Given the description of an element on the screen output the (x, y) to click on. 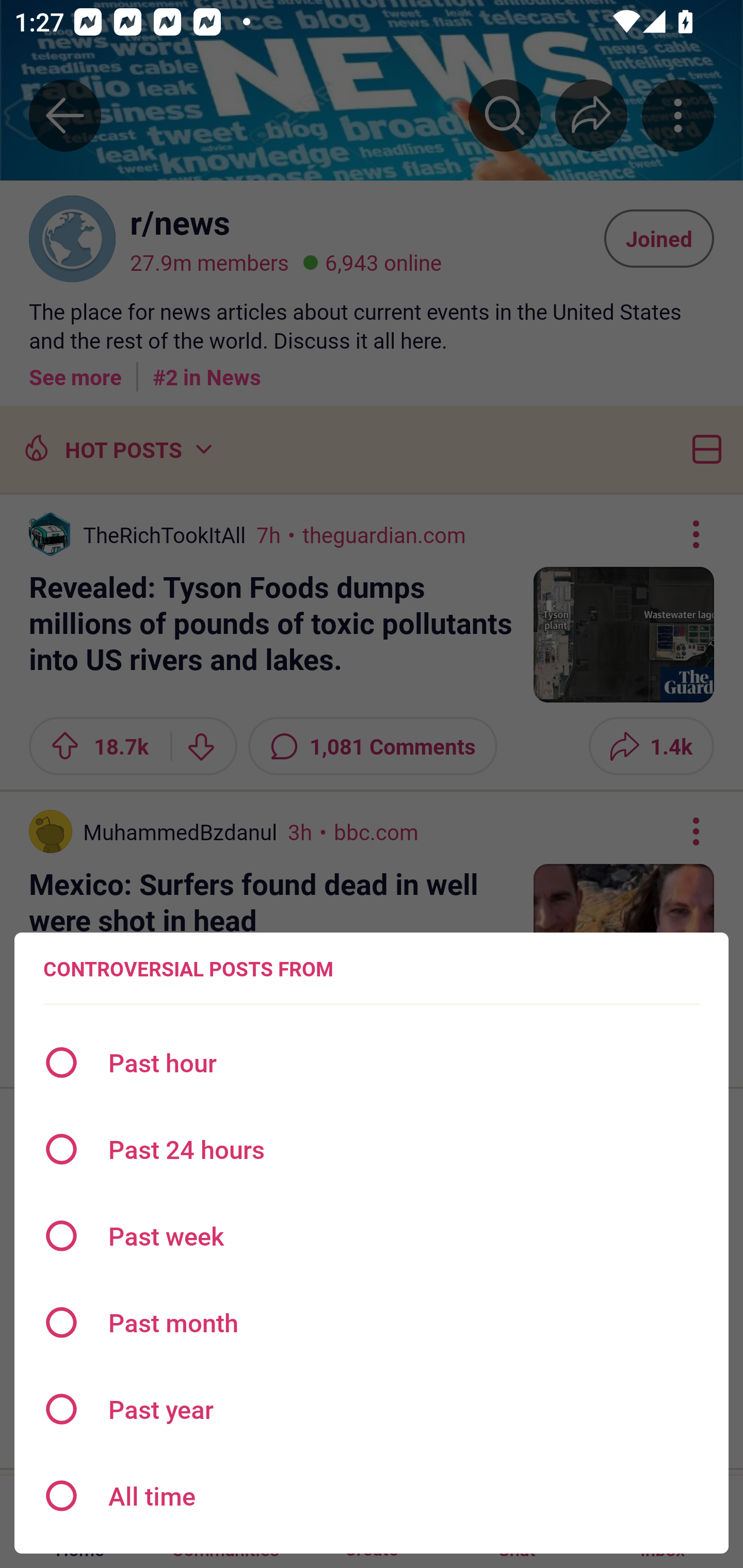
CONTROVERSIAL POSTS FROM (188, 968)
Past hour (371, 1062)
Past 24 hours (371, 1149)
Past week (371, 1236)
Past month (371, 1322)
Past year (371, 1408)
All time (371, 1495)
